Given the description of an element on the screen output the (x, y) to click on. 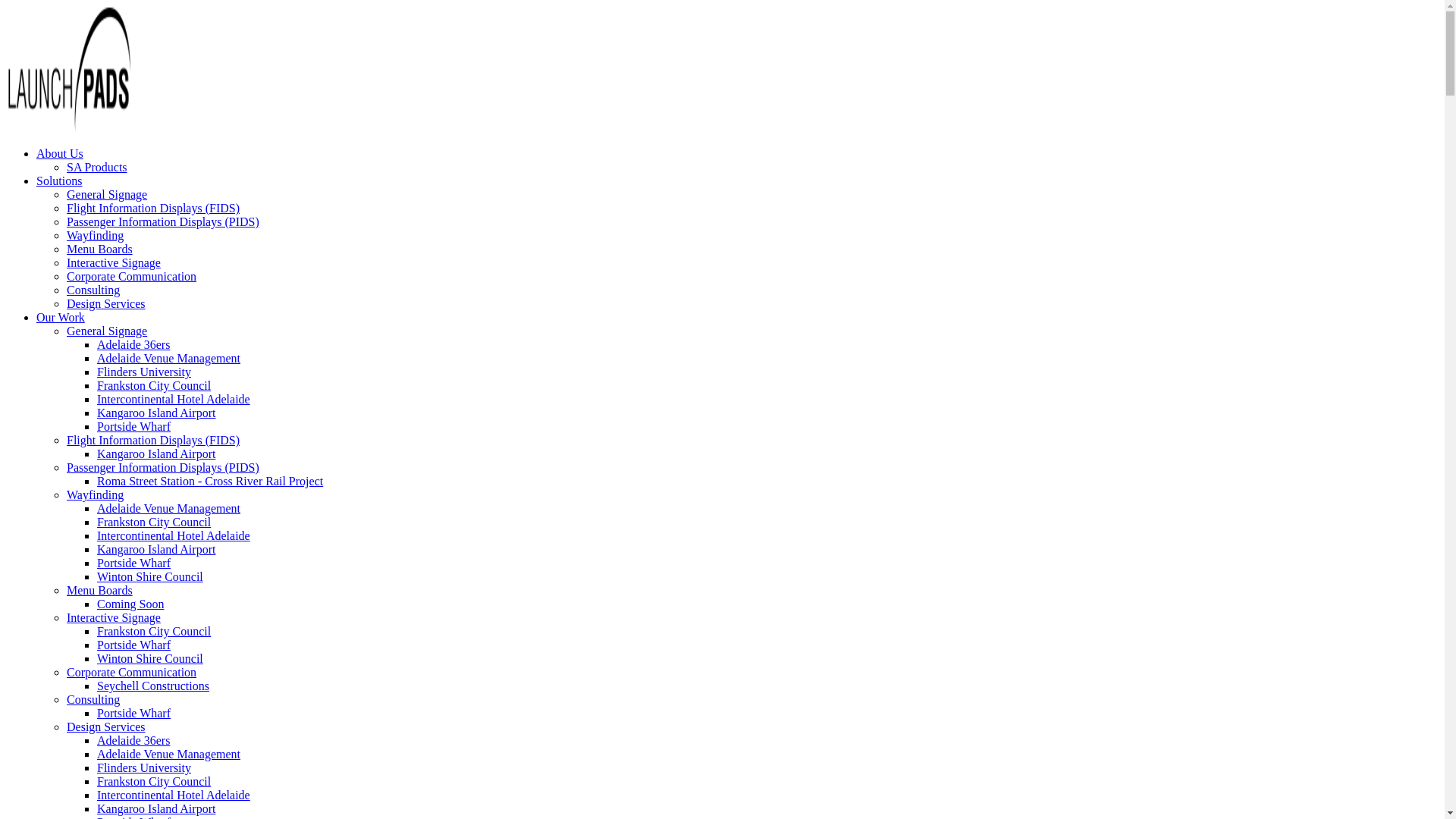
Roma Street Station - Cross River Rail Project Element type: text (210, 480)
Corporate Communication Element type: text (131, 275)
Portside Wharf Element type: text (133, 426)
Corporate Communication Element type: text (131, 671)
Adelaide Venue Management Element type: text (168, 508)
Winton Shire Council Element type: text (150, 658)
General Signage Element type: text (106, 330)
SA Products Element type: text (96, 166)
Interactive Signage Element type: text (113, 262)
Adelaide 36ers Element type: text (133, 344)
Kangaroo Island Airport Element type: text (156, 412)
Seychell Constructions Element type: text (153, 685)
Portside Wharf Element type: text (133, 562)
Kangaroo Island Airport Element type: text (156, 808)
Consulting Element type: text (92, 289)
Our Work Element type: text (60, 316)
Frankston City Council Element type: text (153, 630)
Intercontinental Hotel Adelaide Element type: text (173, 794)
Wayfinding Element type: text (94, 235)
Flight Information Displays (FIDS) Element type: text (152, 439)
Frankston City Council Element type: text (153, 781)
Kangaroo Island Airport Element type: text (156, 453)
Adelaide 36ers Element type: text (133, 740)
Design Services Element type: text (105, 726)
About Us Element type: text (59, 153)
General Signage Element type: text (106, 194)
Frankston City Council Element type: text (153, 385)
Adelaide Venue Management Element type: text (168, 357)
Intercontinental Hotel Adelaide Element type: text (173, 398)
Flight Information Displays (FIDS) Element type: text (152, 207)
Menu Boards Element type: text (99, 248)
Consulting Element type: text (92, 699)
Winton Shire Council Element type: text (150, 576)
Flinders University Element type: text (144, 767)
Passenger Information Displays (PIDS) Element type: text (162, 221)
Passenger Information Displays (PIDS) Element type: text (162, 467)
Interactive Signage Element type: text (113, 617)
Portside Wharf Element type: text (133, 712)
Menu Boards Element type: text (99, 589)
Frankston City Council Element type: text (153, 521)
Design Services Element type: text (105, 303)
Intercontinental Hotel Adelaide Element type: text (173, 535)
Portside Wharf Element type: text (133, 644)
Solutions Element type: text (58, 180)
Adelaide Venue Management Element type: text (168, 753)
Coming Soon Element type: text (130, 603)
Wayfinding Element type: text (94, 494)
Flinders University Element type: text (144, 371)
Kangaroo Island Airport Element type: text (156, 548)
